Given the description of an element on the screen output the (x, y) to click on. 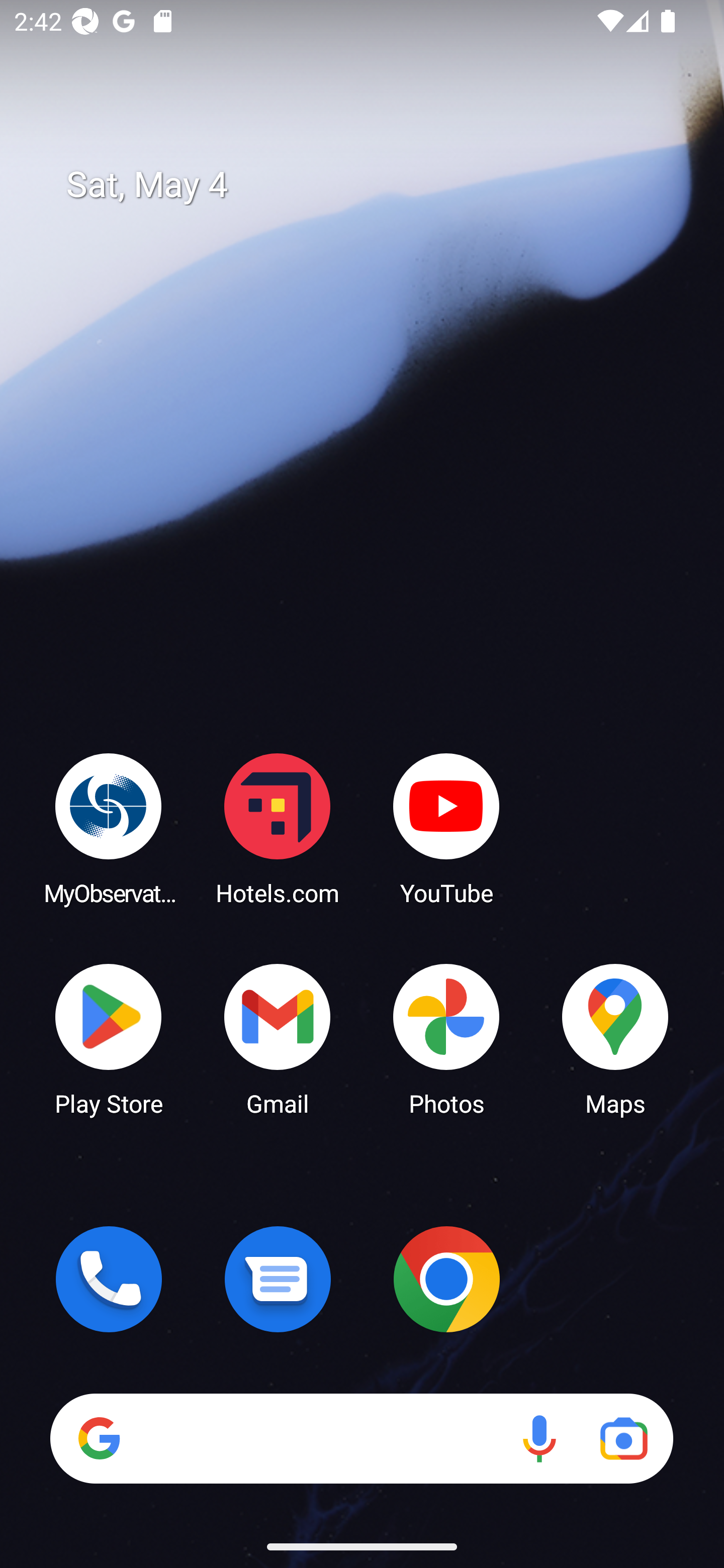
Sat, May 4 (375, 184)
MyObservatory (108, 828)
Hotels.com (277, 828)
YouTube (445, 828)
Play Store (108, 1038)
Gmail (277, 1038)
Photos (445, 1038)
Maps (615, 1038)
Phone (108, 1279)
Messages (277, 1279)
Chrome (446, 1279)
Search Voice search Google Lens (361, 1438)
Voice search (539, 1438)
Google Lens (623, 1438)
